Given the description of an element on the screen output the (x, y) to click on. 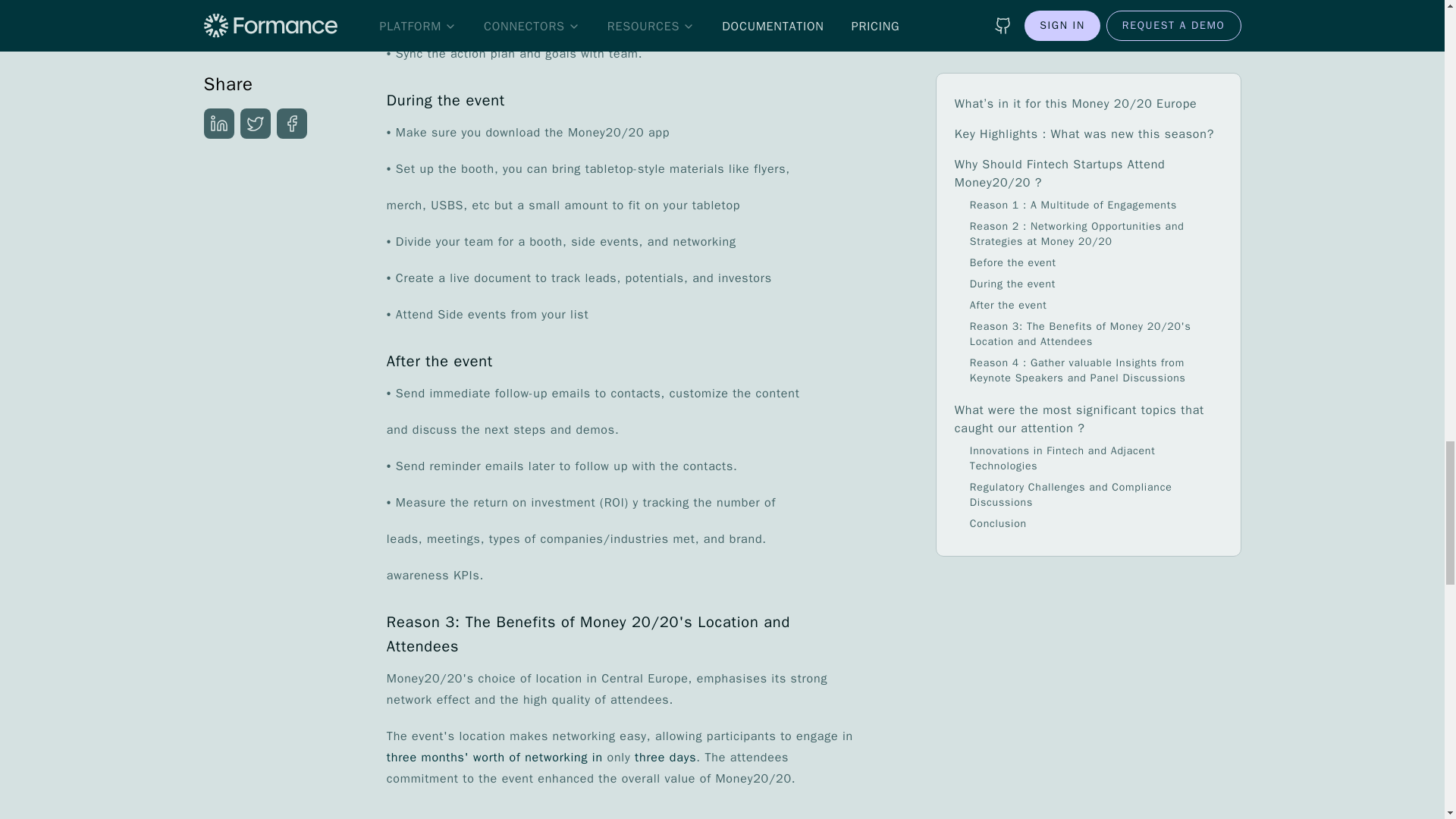
After the event (623, 361)
During the event (623, 100)
